Given the description of an element on the screen output the (x, y) to click on. 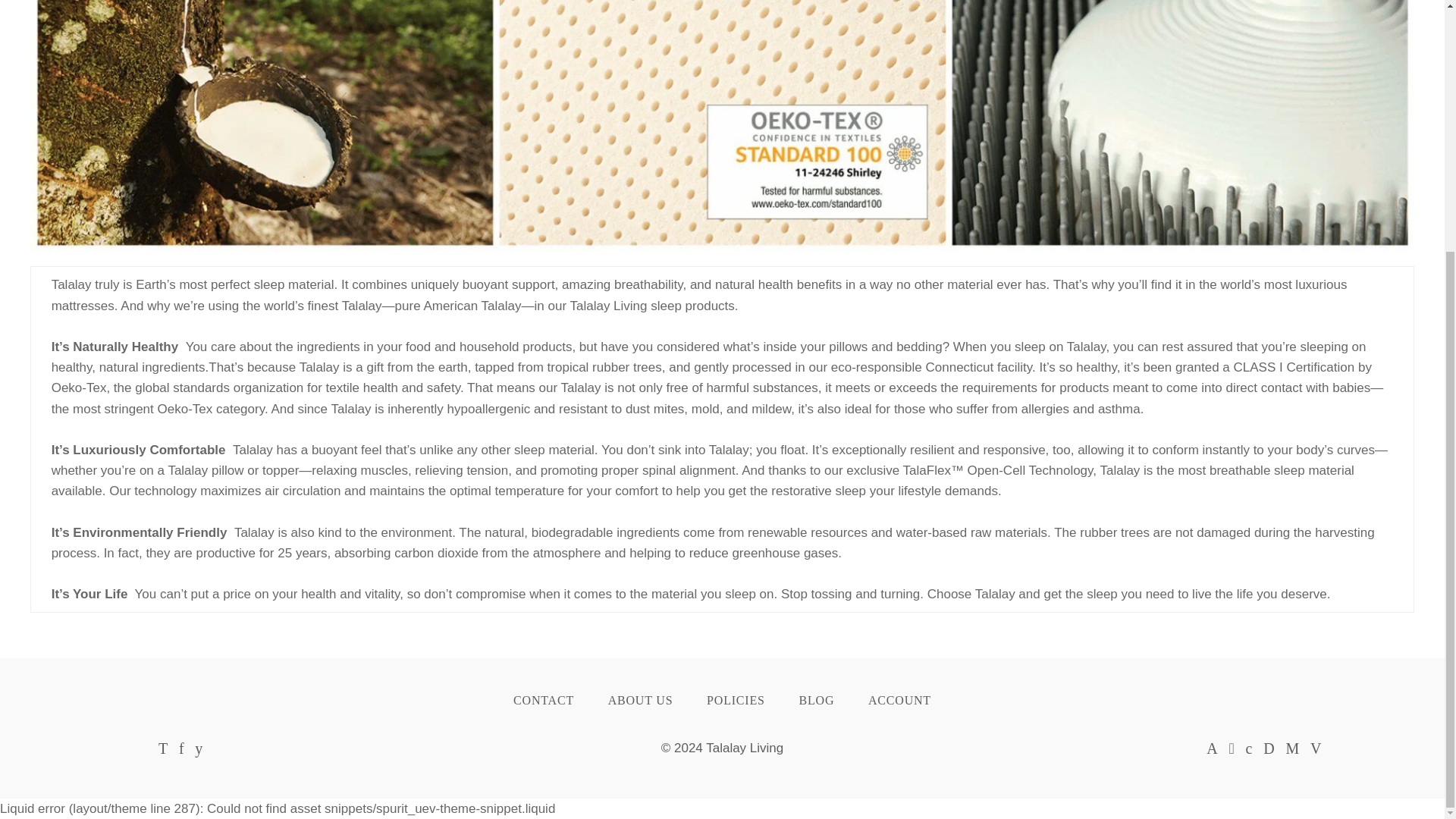
BLOG (815, 700)
ACCOUNT (899, 700)
ABOUT US (640, 700)
POLICIES (735, 700)
Talalay Living (744, 748)
CONTACT (543, 700)
